Given the description of an element on the screen output the (x, y) to click on. 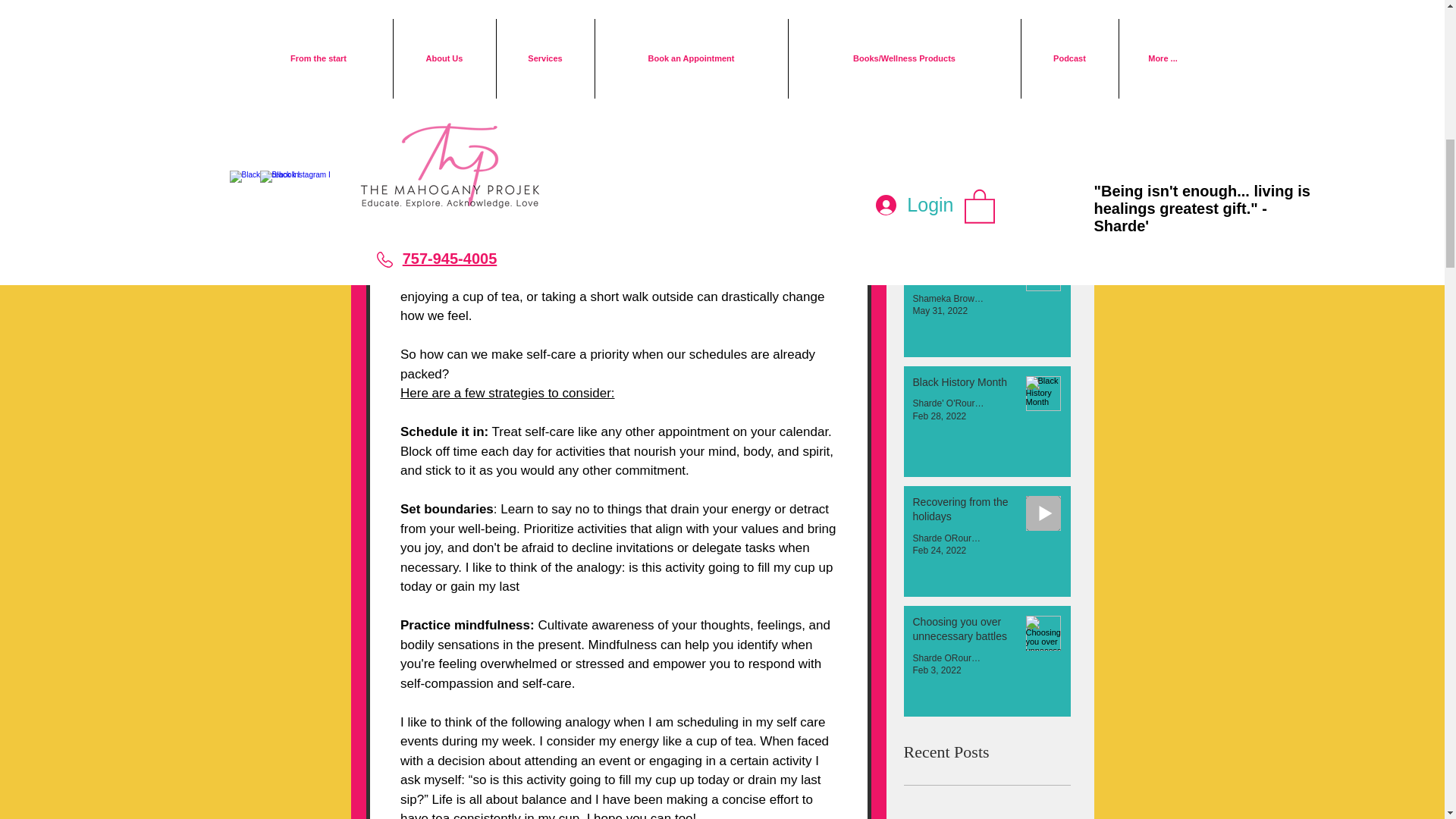
Sharde ORourke, LPC, LMFT, LSATP, CCTP, SAP (948, 43)
Dec 5, 2022 (937, 56)
May 31, 2022 (940, 310)
Feb 28, 2022 (939, 416)
Sharde' O'Rourke (948, 403)
Jul 4, 2022 (935, 190)
Sharde ORourke, LPC, LMFT, LSATP, CCTP, SAP (948, 538)
Shameka Brown, QMHP-A, CSAC (948, 298)
Sharde' O'Rourke (948, 178)
